Given the description of an element on the screen output the (x, y) to click on. 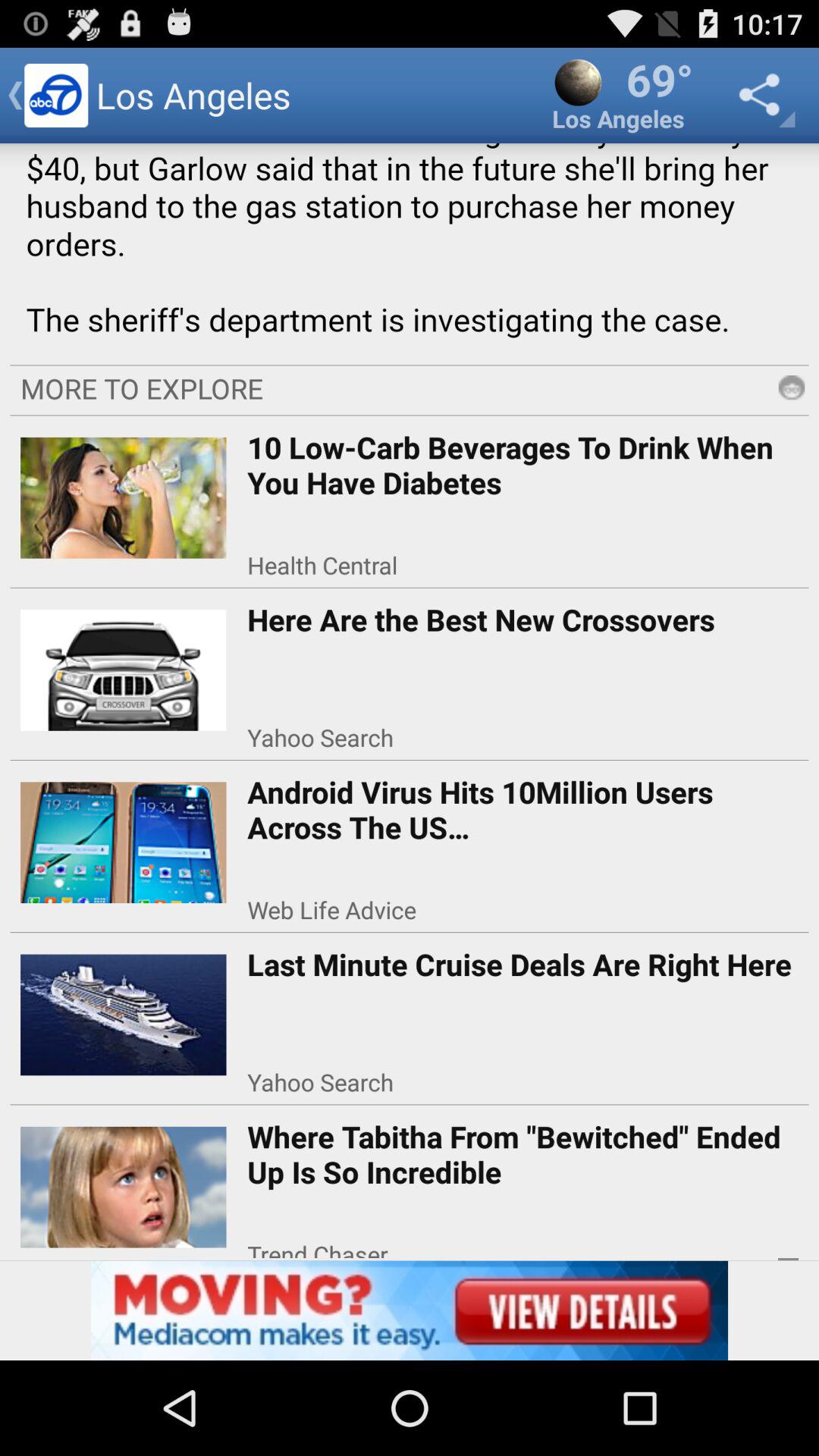
news page (409, 248)
